Given the description of an element on the screen output the (x, y) to click on. 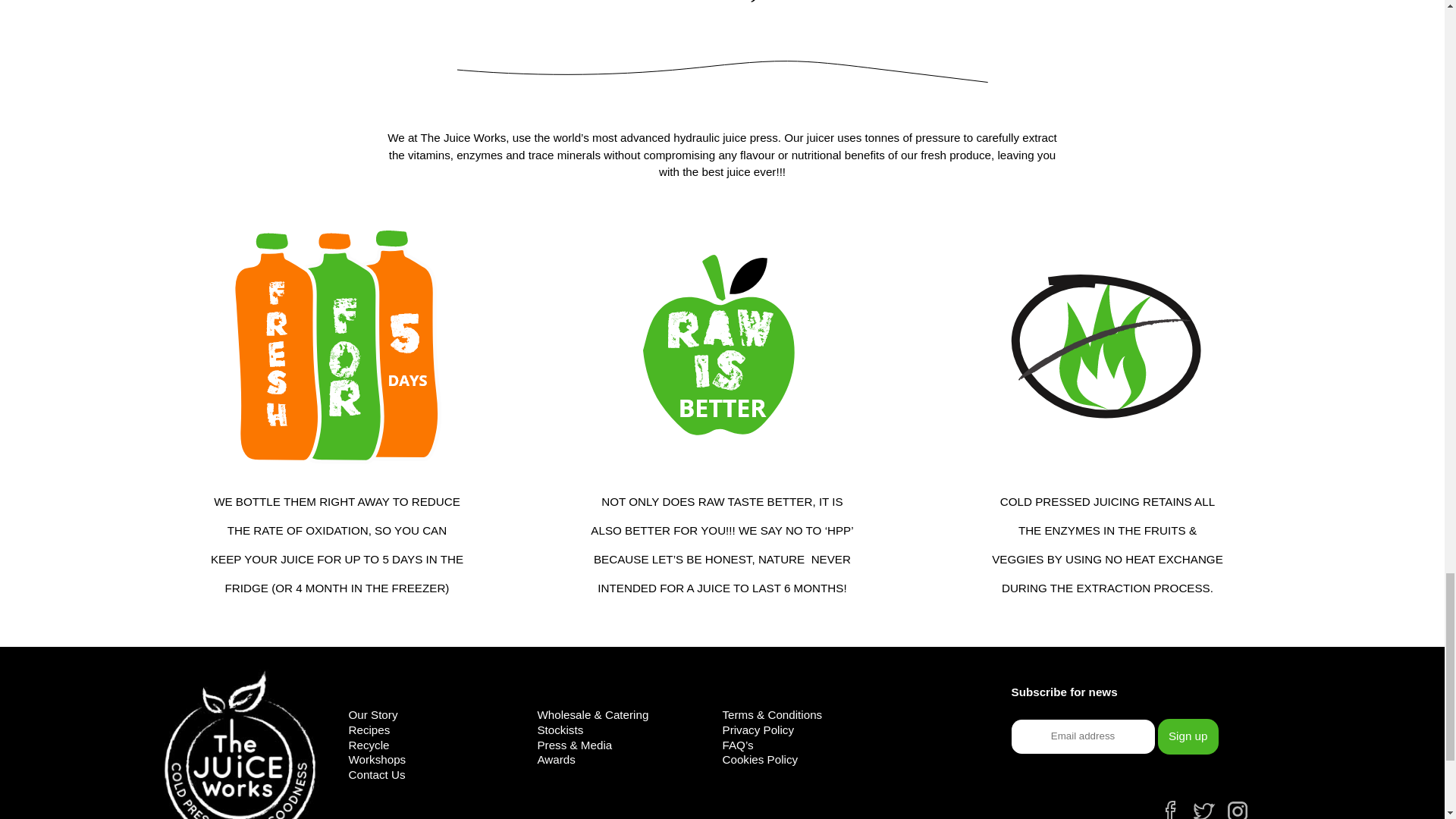
Sign up (1187, 736)
White Logo The Juice Works (240, 744)
